Given the description of an element on the screen output the (x, y) to click on. 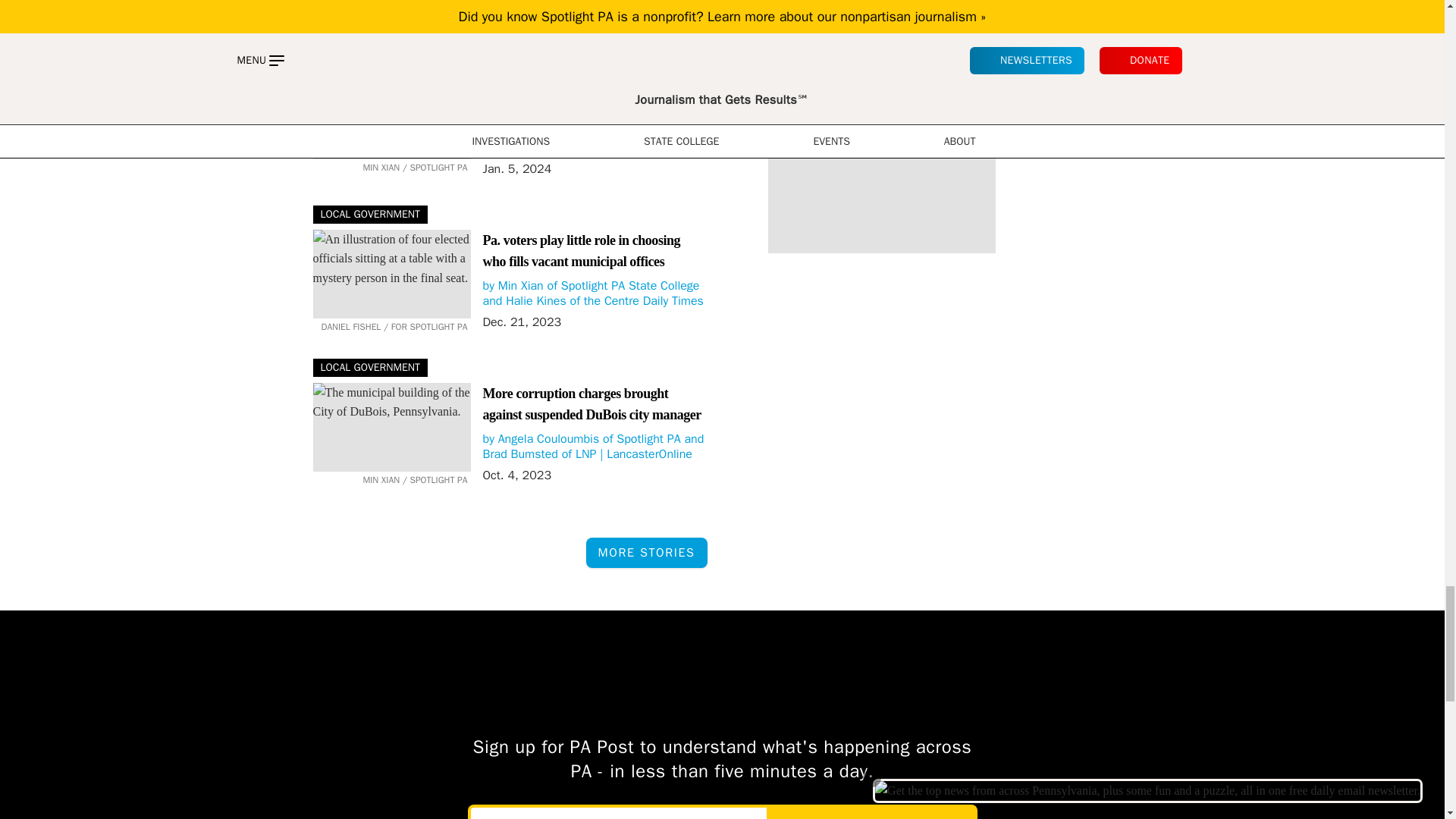
The municipal building of the City of DuBois, Pennsylvania. (391, 114)
The municipal building of the City of DuBois, Pennsylvania. (391, 427)
